Given the description of an element on the screen output the (x, y) to click on. 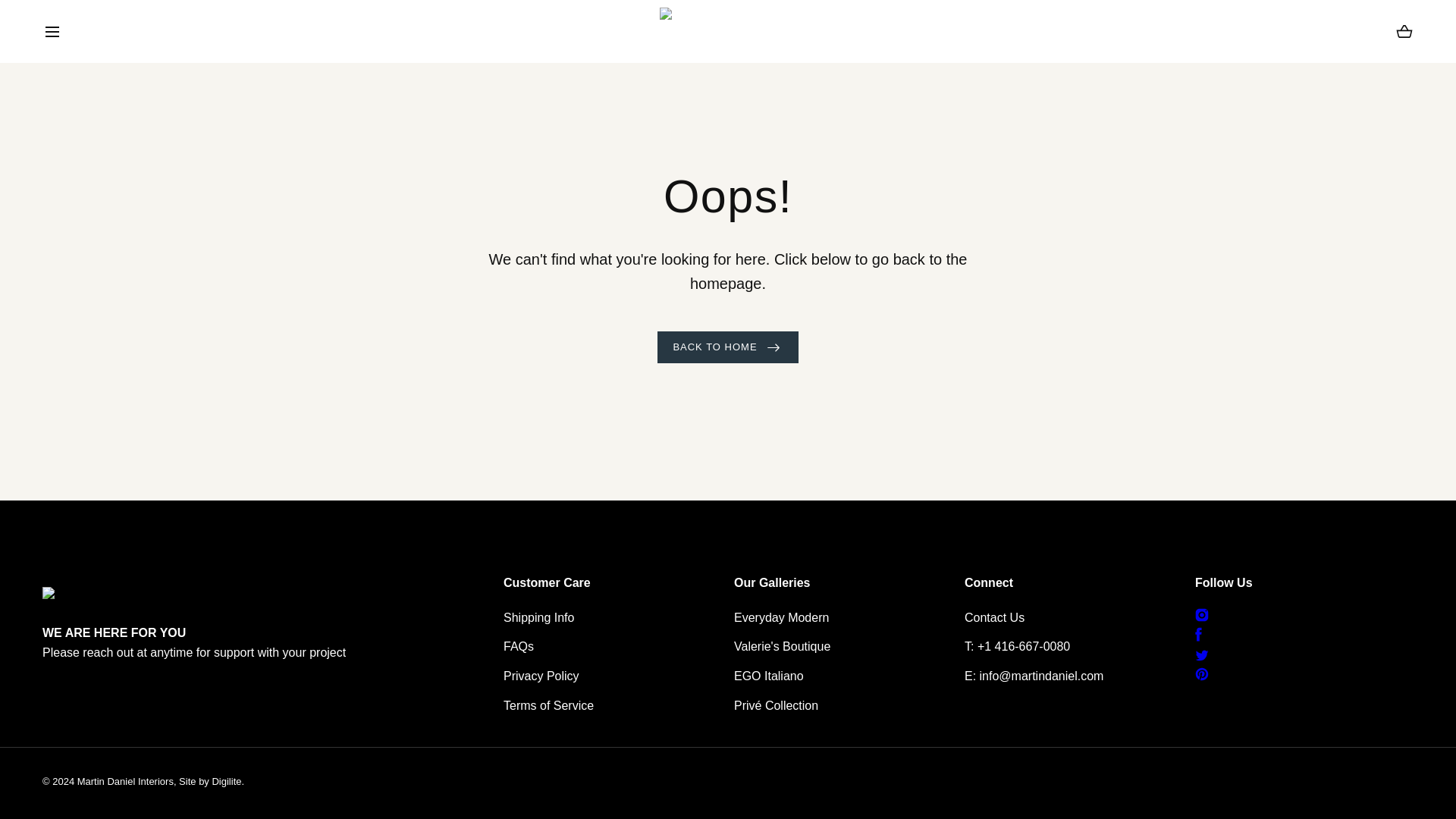
SKIP TO CONTENT (80, 18)
Martin Daniel Interiors (727, 31)
Martin Daniel Interiors (1403, 31)
